Given the description of an element on the screen output the (x, y) to click on. 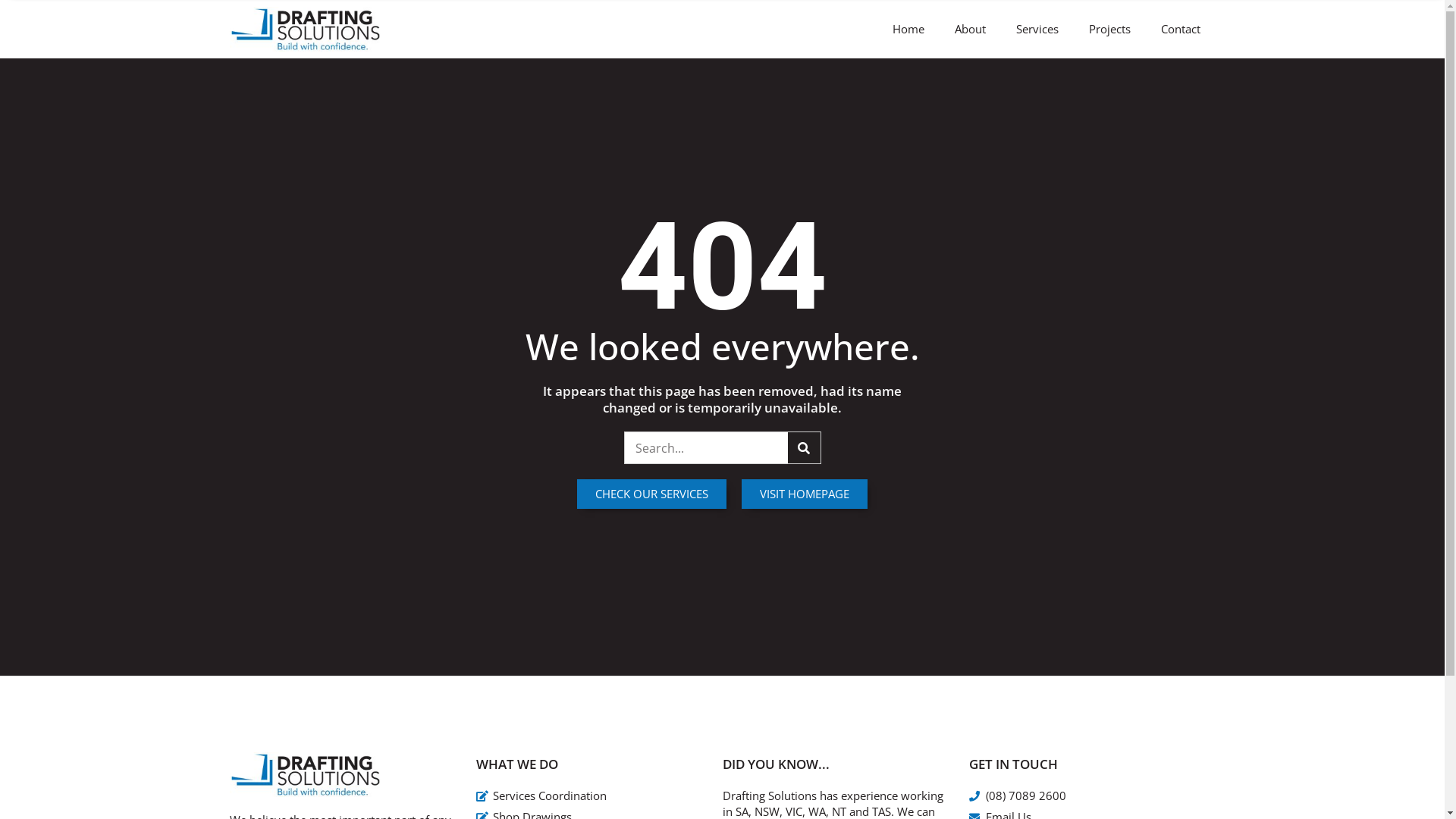
Home Element type: text (907, 29)
Services Coordination Element type: text (587, 795)
VISIT HOMEPAGE Element type: text (804, 493)
CHECK OUR SERVICES Element type: text (651, 493)
Services Element type: text (1037, 29)
About Element type: text (969, 29)
Projects Element type: text (1109, 29)
Contact Element type: text (1179, 29)
(08) 7089 2600 Element type: text (1080, 795)
